Given the description of an element on the screen output the (x, y) to click on. 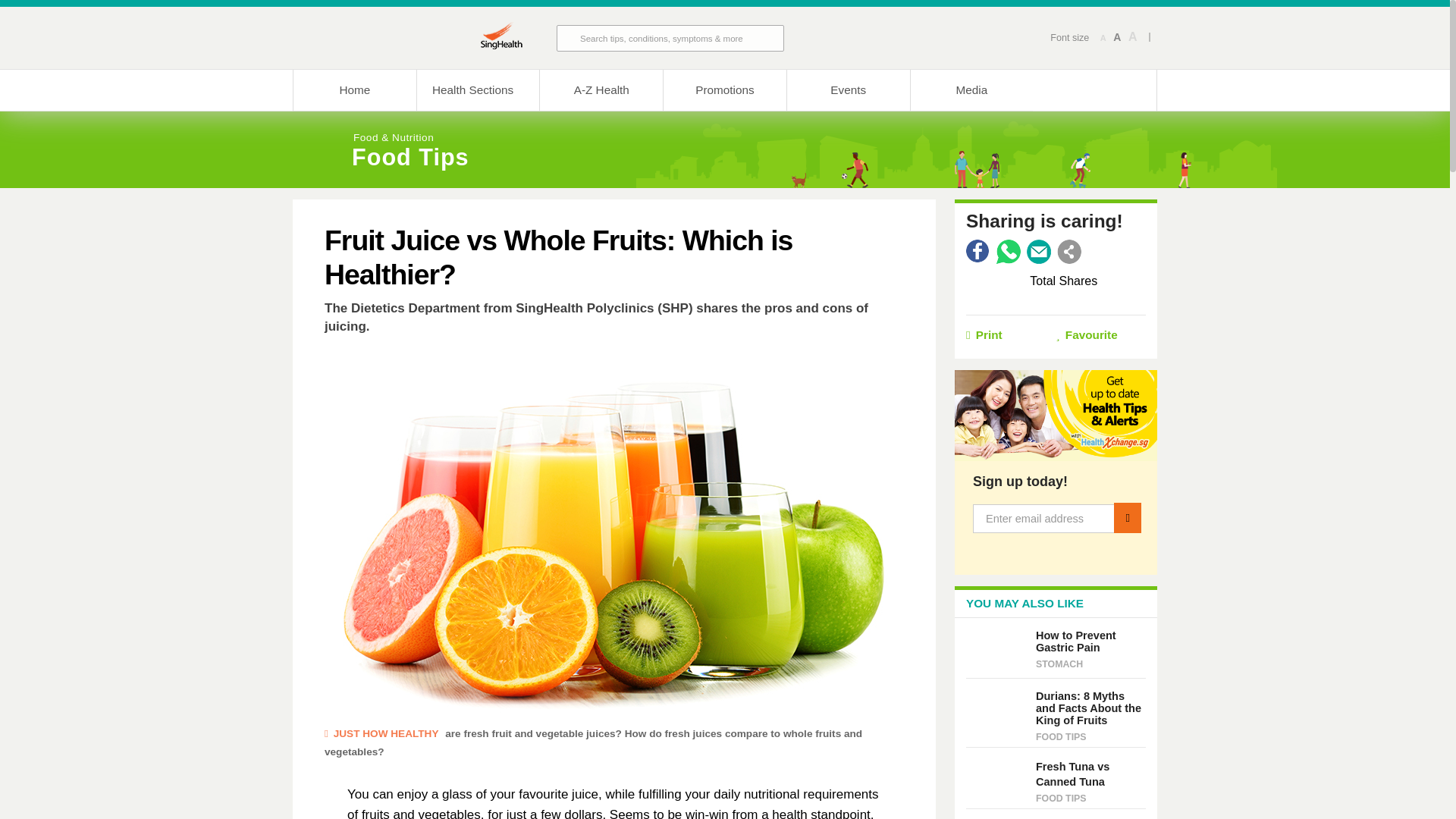
Home (354, 89)
Media (971, 89)
Promotions (724, 89)
WhatsApp (1007, 251)
Facebook (978, 251)
Health Sections (478, 89)
A (1132, 37)
A-Z Health (600, 89)
Email Us (1038, 251)
Events (848, 89)
